Given the description of an element on the screen output the (x, y) to click on. 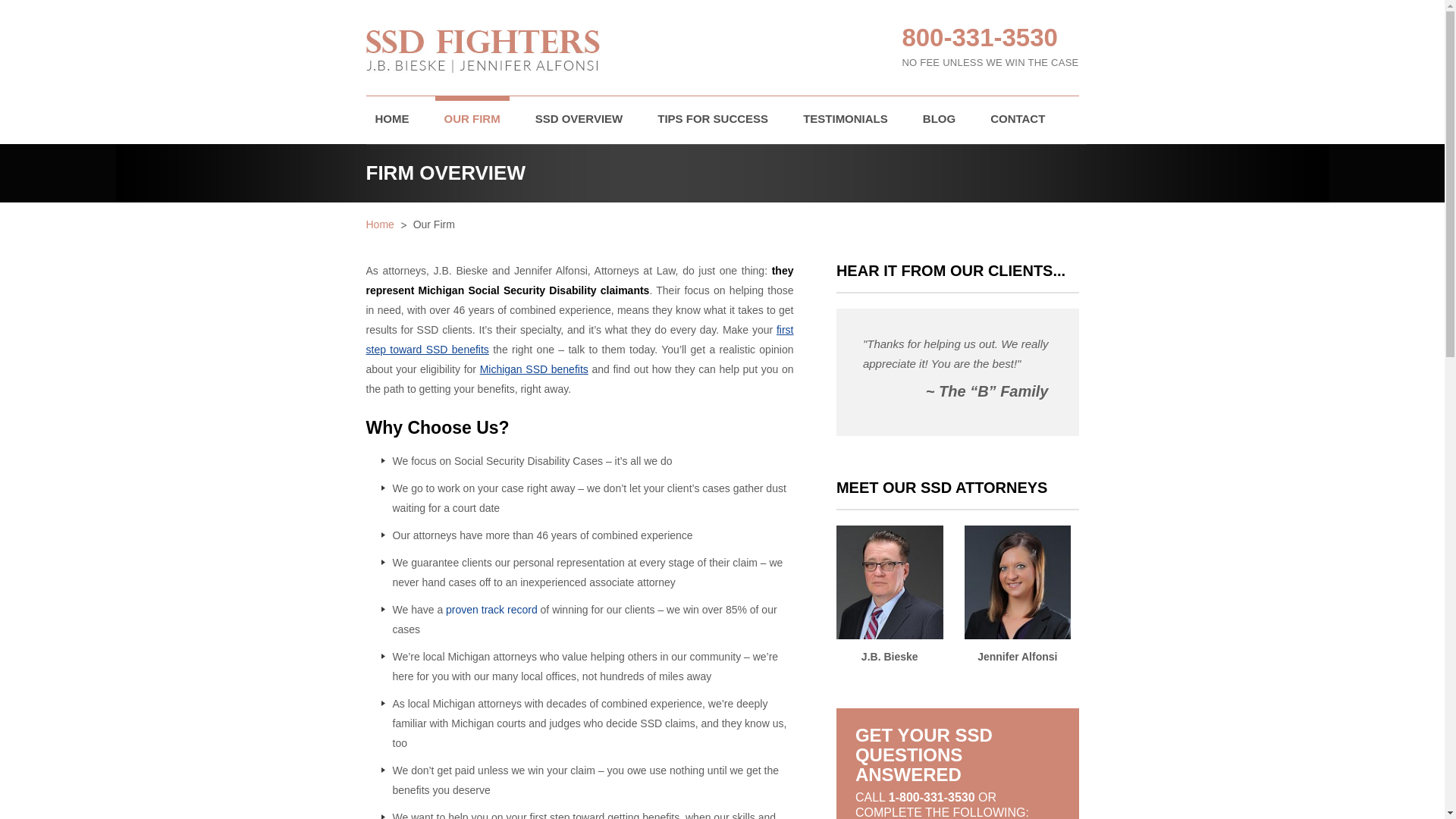
Home (379, 224)
SSD OVERVIEW (578, 120)
HOME (391, 120)
first step toward SSD benefits (579, 339)
Testimonials (491, 609)
proven track record (491, 609)
OUR FIRM (472, 120)
TIPS FOR SUCCESS (712, 120)
CONTACT (1017, 120)
Winning Social Security Disability at the First Step (579, 339)
Michigan SSD benefits (534, 369)
Home (534, 369)
BLOG (938, 120)
TESTIMONIALS (844, 120)
